Given the description of an element on the screen output the (x, y) to click on. 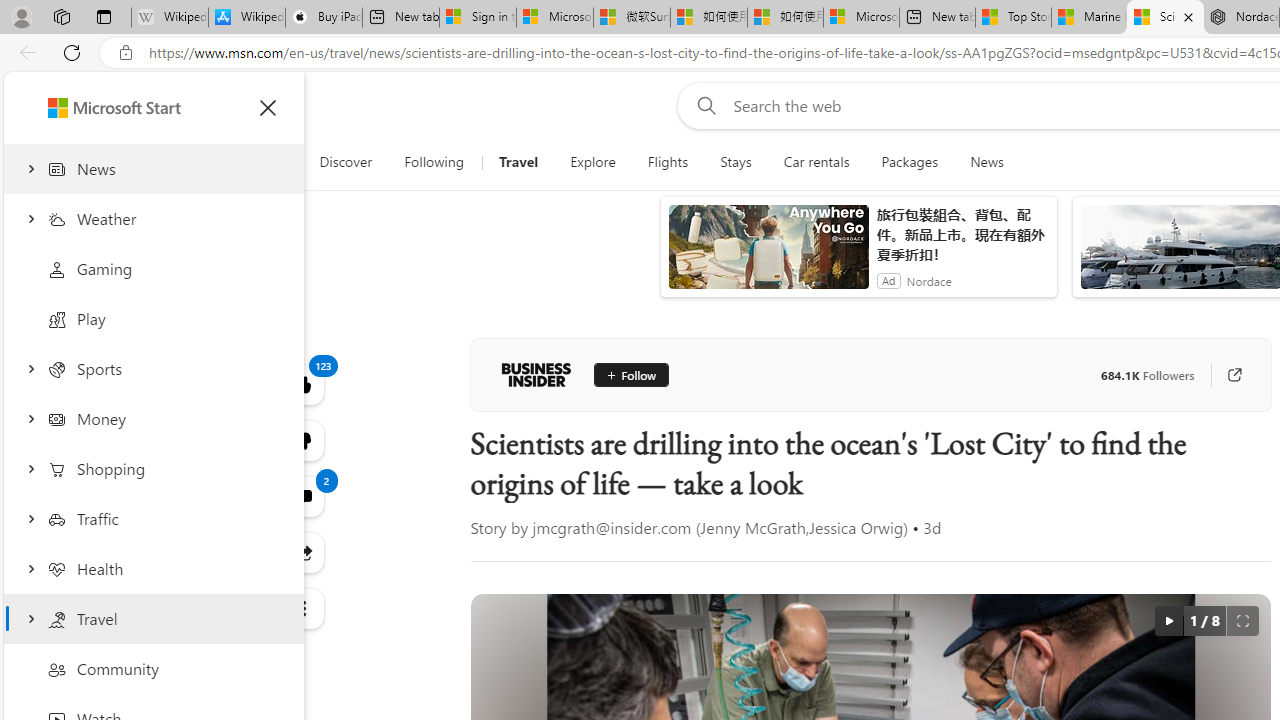
123 (302, 440)
Class: at-item (302, 609)
Explore (592, 162)
Follow (630, 374)
anim-content (768, 255)
Close menu (268, 107)
